Given the description of an element on the screen output the (x, y) to click on. 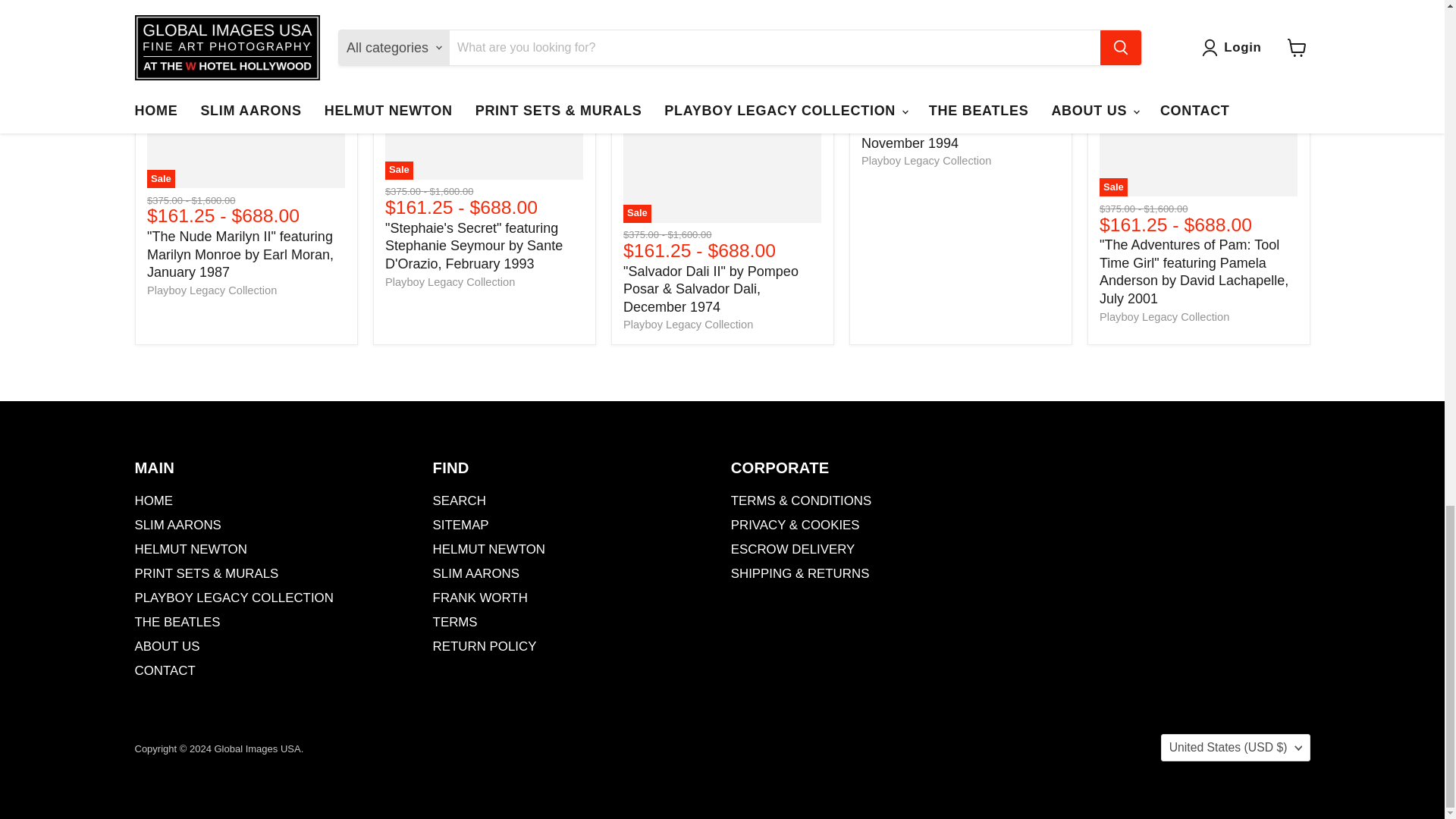
Playboy Legacy Collection (211, 290)
Playboy Legacy Collection (450, 282)
Playboy Legacy Collection (687, 324)
Playboy Legacy Collection (926, 160)
Playboy Legacy Collection (1163, 316)
